Given the description of an element on the screen output the (x, y) to click on. 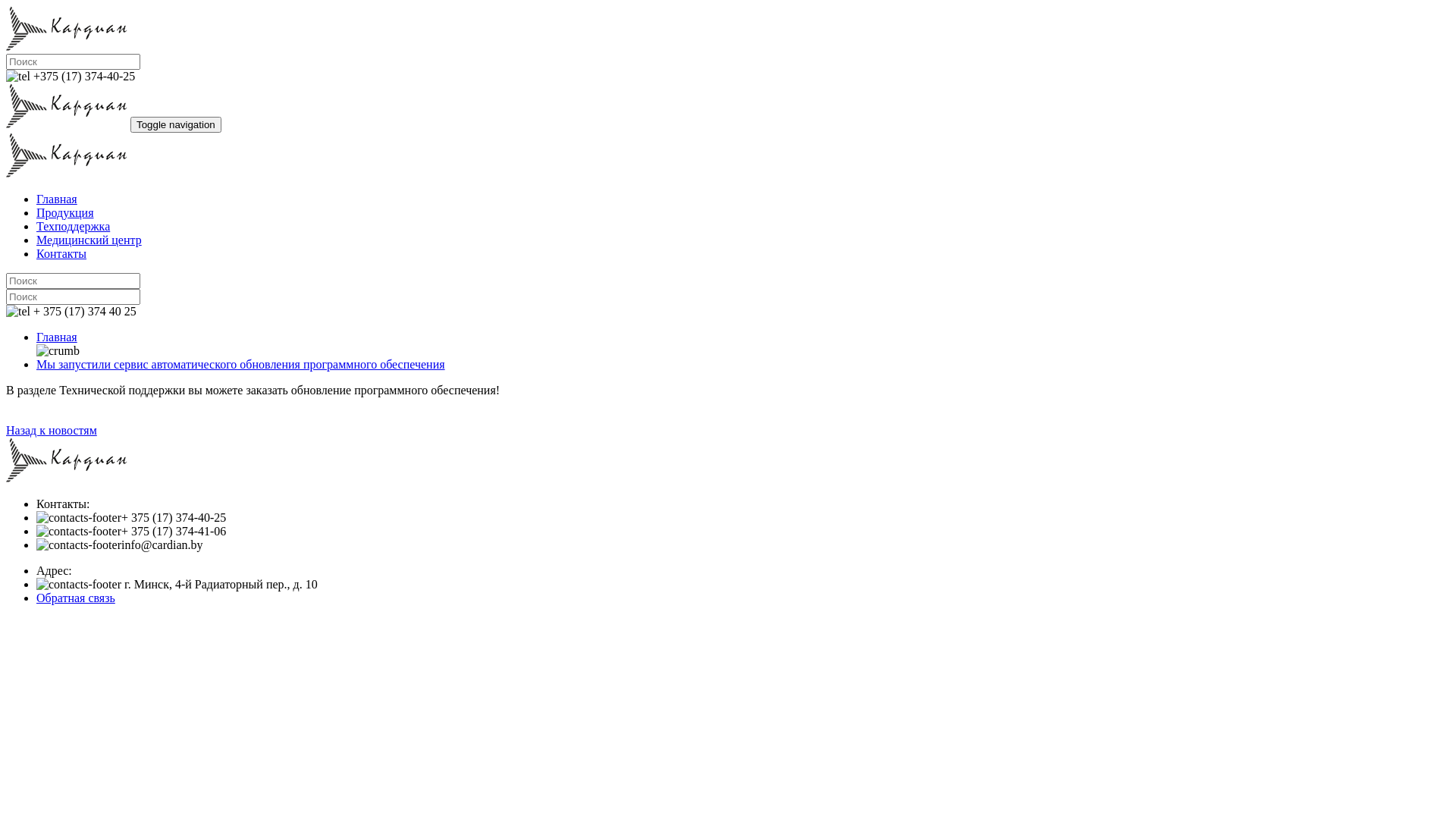
Toggle navigation Element type: text (175, 124)
